Given the description of an element on the screen output the (x, y) to click on. 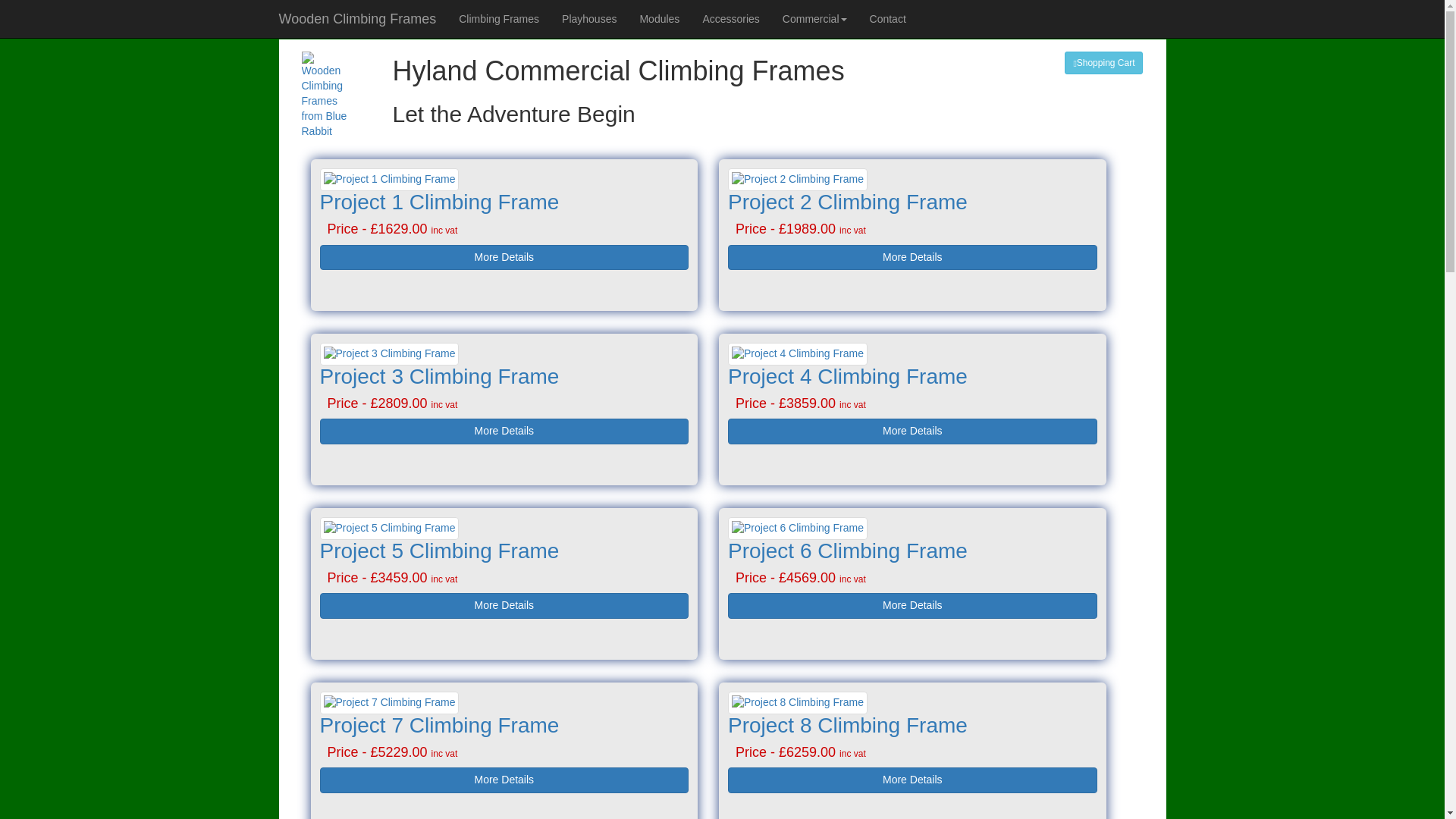
More Details (504, 605)
Project 6 Climbing Frame (848, 550)
Project 3 Climbing Frame (439, 376)
Project 1 Climbing Frame (439, 201)
More Details (504, 780)
Project 5 Climbing Frame (439, 550)
Shopping Cart (1103, 62)
More Details (912, 780)
Commercial (815, 18)
More Details (912, 257)
Contact (888, 18)
More Details (912, 605)
Playhouses (588, 18)
Climbing Frames (498, 18)
Project 7 Climbing Frame (439, 725)
